Given the description of an element on the screen output the (x, y) to click on. 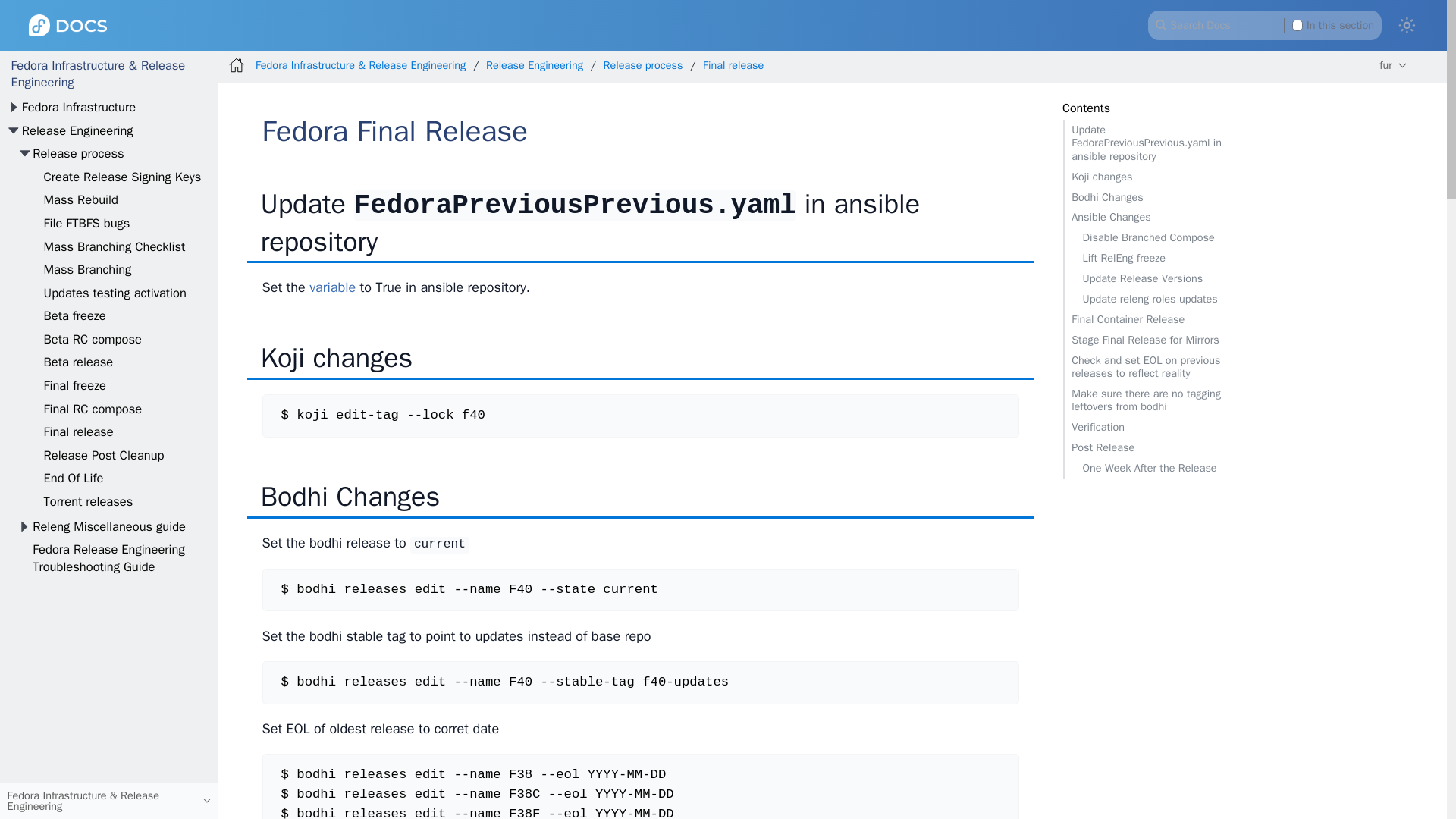
on (1297, 24)
Fedora Infrastructure (78, 107)
Show other languages of the site (1393, 65)
Loading index... (1264, 24)
